Given the description of an element on the screen output the (x, y) to click on. 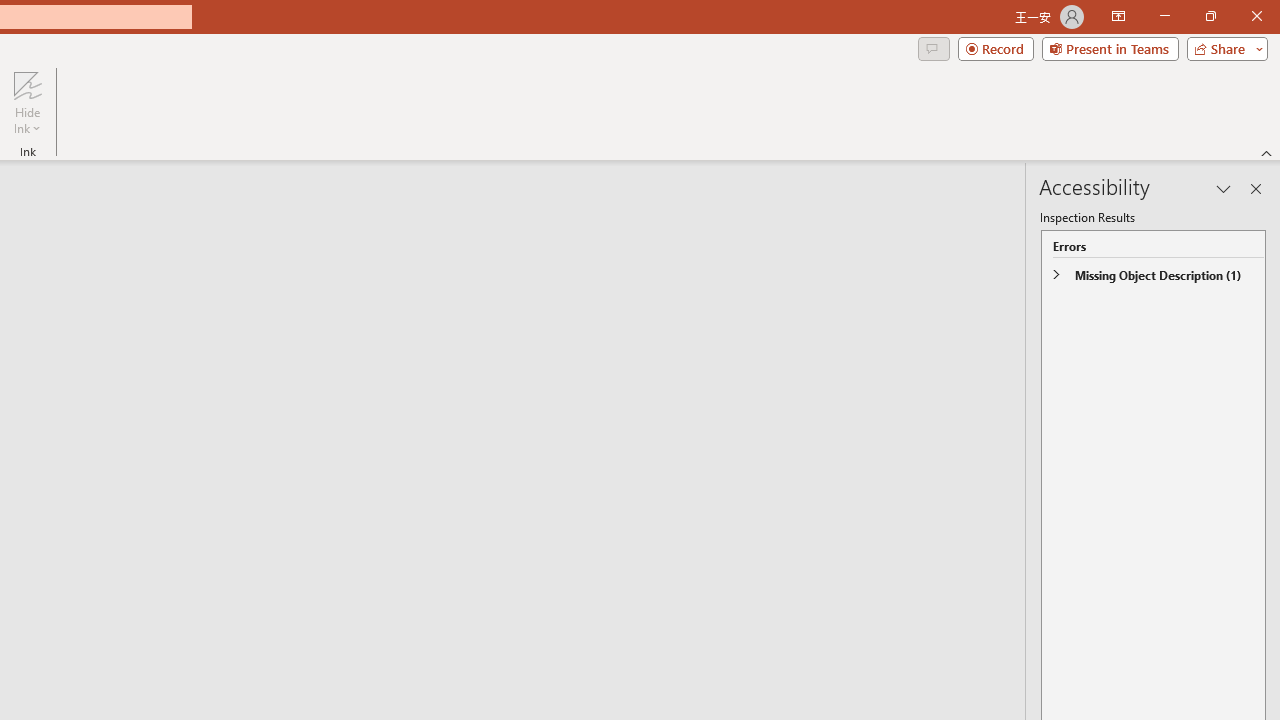
Hide Ink (27, 102)
Hide Ink (27, 84)
